Given the description of an element on the screen output the (x, y) to click on. 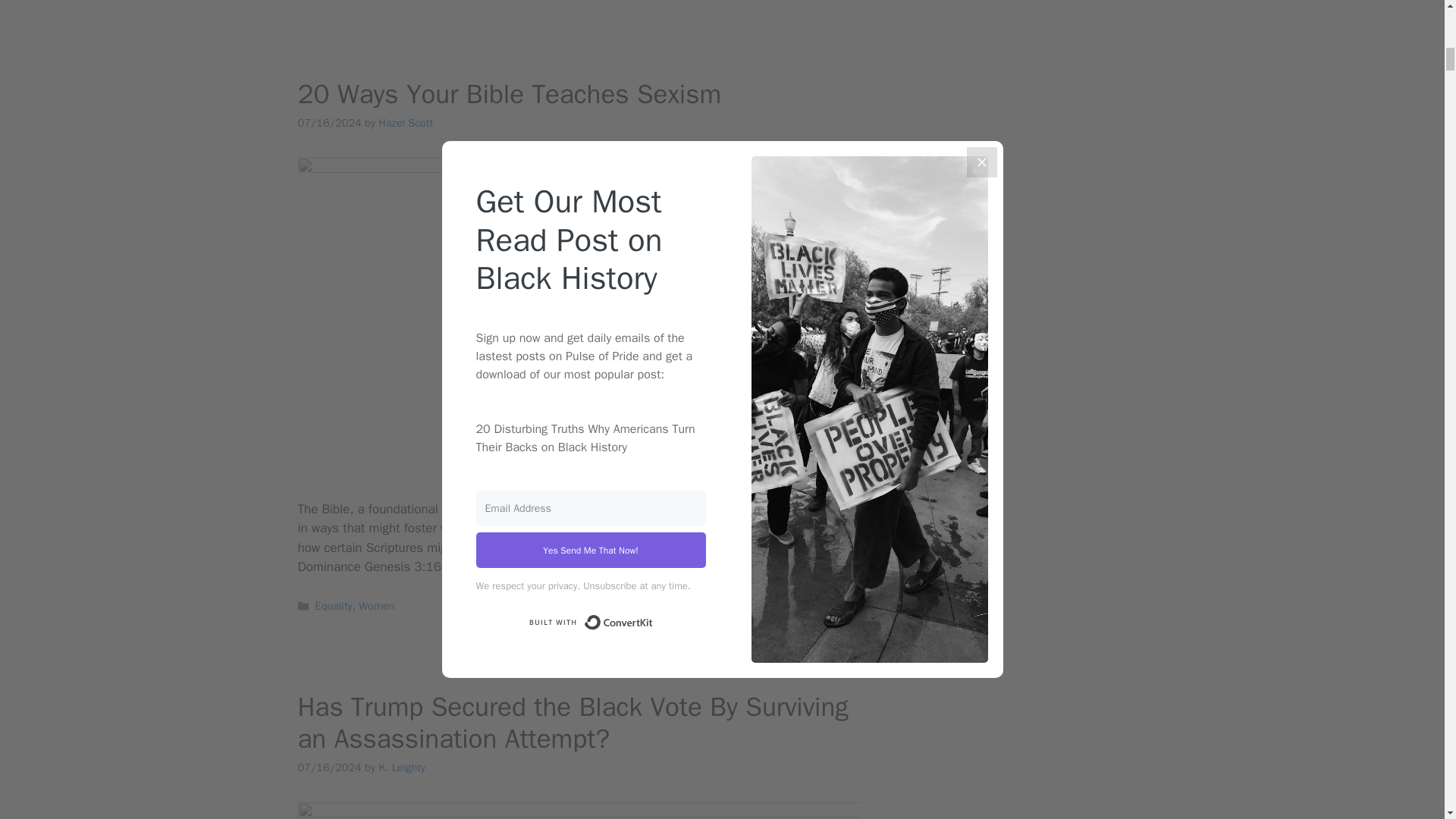
Hazel Scott (405, 122)
View all posts by K. Leighty (401, 766)
20 Ways Your Bible Teaches Sexism (758, 566)
View all posts by Hazel Scott (405, 122)
20 Ways Your Bible Teaches Sexism (508, 93)
